Given the description of an element on the screen output the (x, y) to click on. 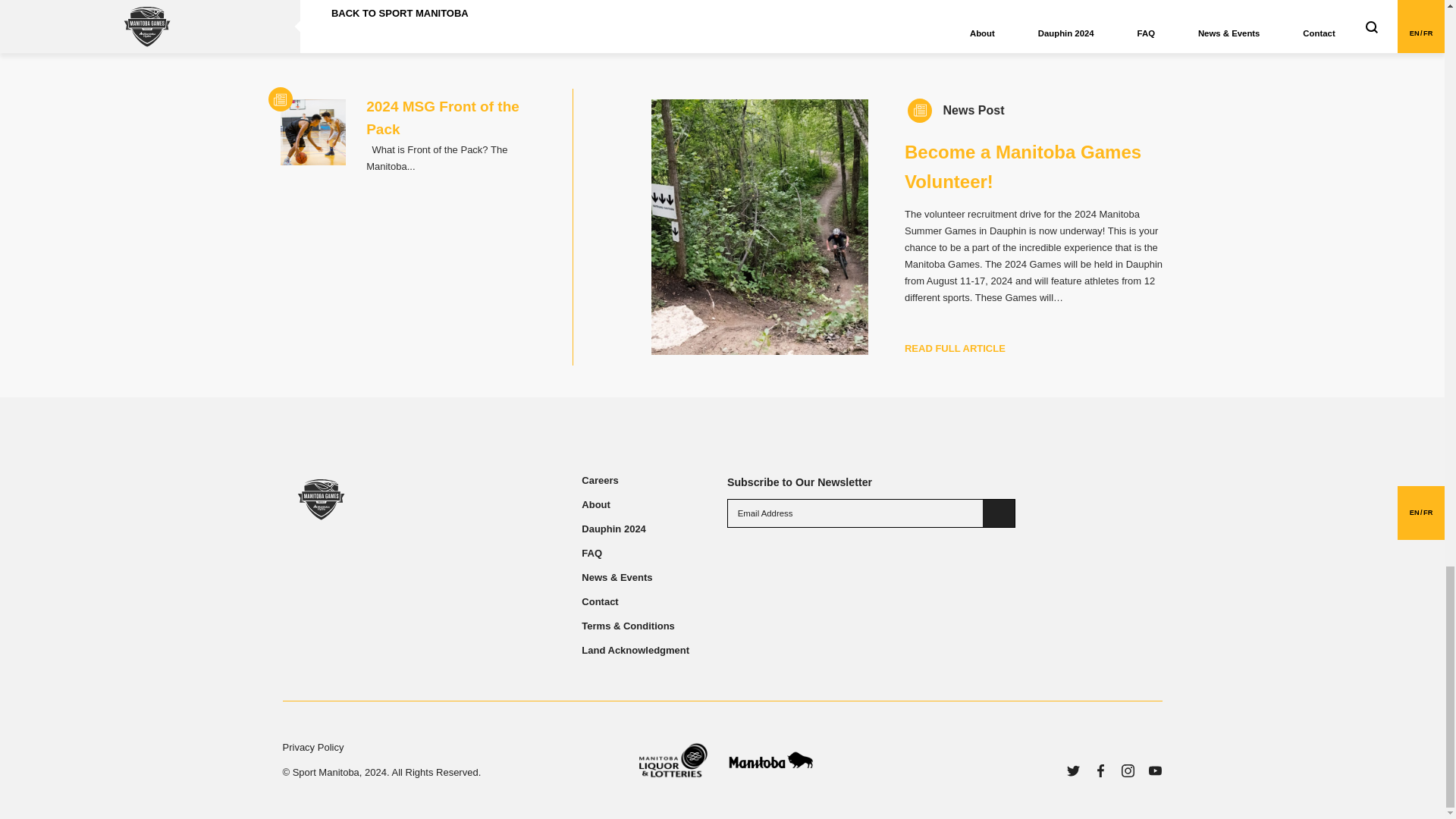
READ FULL ARTICLE (955, 348)
Dauphin 2024 (613, 529)
About (595, 504)
Careers (598, 480)
2024 MSG Front of the Pack (442, 117)
Land Acknowledgment (634, 650)
Contact (598, 602)
FAQ (591, 552)
Become a Manitoba Games Volunteer! (1022, 165)
